Given the description of an element on the screen output the (x, y) to click on. 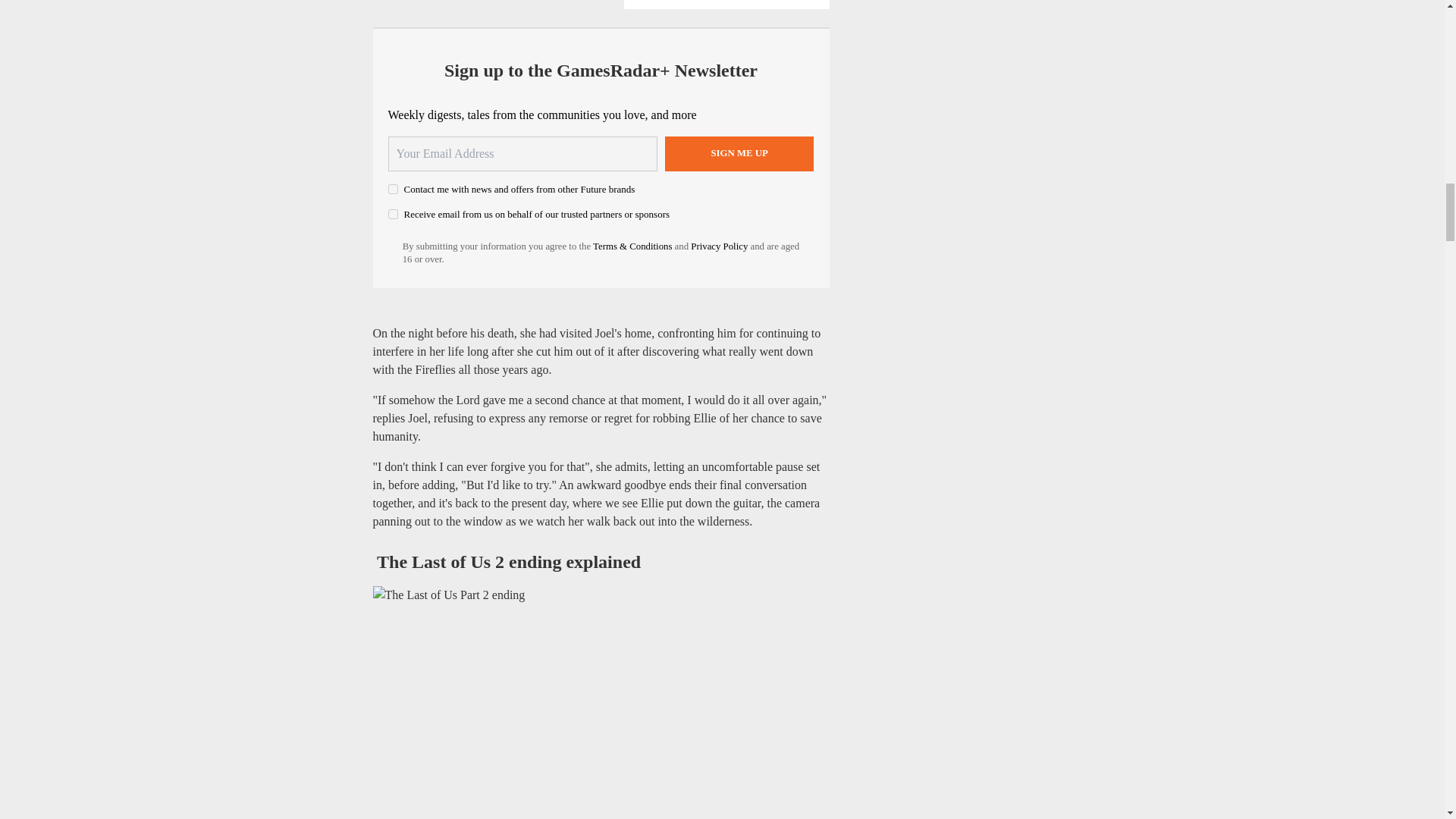
on (392, 189)
Sign me up (739, 153)
on (392, 214)
